Given the description of an element on the screen output the (x, y) to click on. 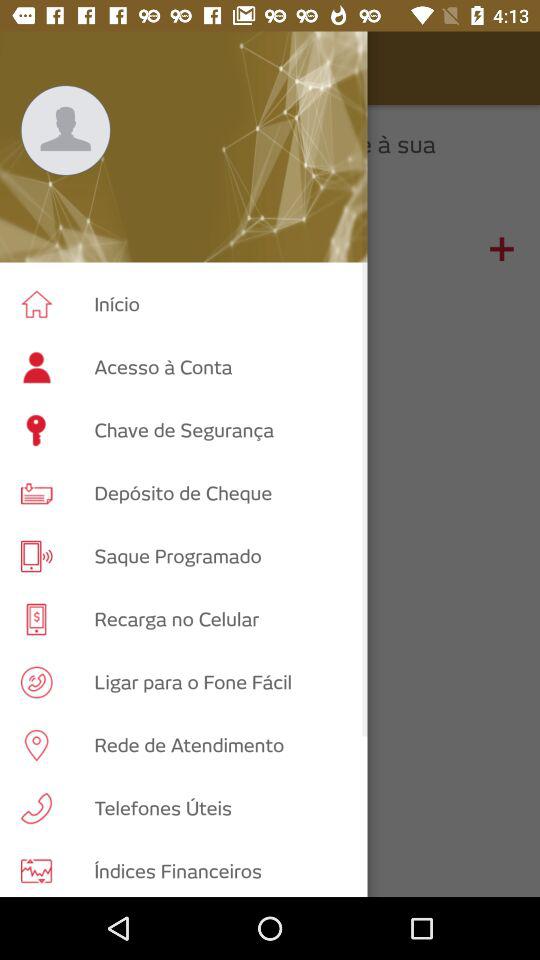
click the  button on the web page (501, 249)
